Given the description of an element on the screen output the (x, y) to click on. 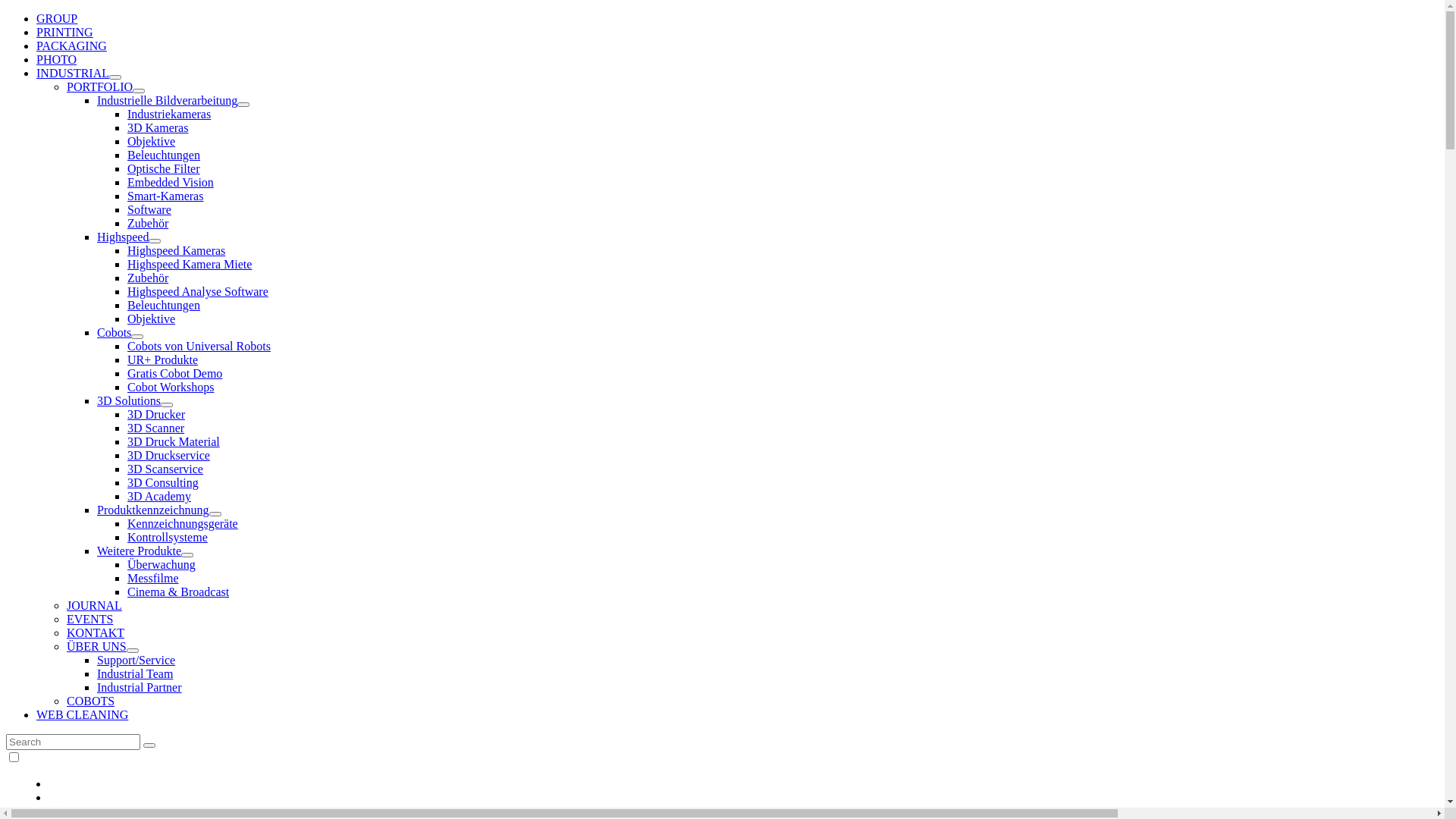
EVENTS Element type: text (89, 618)
UR+ Produkte Element type: text (162, 359)
Produktkennzeichnung Element type: text (153, 509)
Gratis Cobot Demo Element type: text (174, 373)
PORTFOLIO Element type: text (99, 86)
JOURNAL Element type: text (94, 605)
3D Kameras Element type: text (157, 127)
Industrielle Bildverarbeitung Element type: text (167, 100)
Industrial Team Element type: text (134, 673)
3D Druck Material Element type: text (173, 441)
Objektive Element type: text (151, 140)
FR Element type: text (55, 783)
Weitere Produkte Element type: text (139, 550)
Highspeed Element type: text (122, 236)
Cinema & Broadcast Element type: text (178, 591)
3D Academy Element type: text (159, 495)
WEB CLEANING Element type: text (82, 714)
GROUP Element type: text (56, 18)
Beleuchtungen Element type: text (163, 154)
Beleuchtungen Element type: text (163, 304)
Industrial Partner Element type: text (139, 686)
3D Druckservice Element type: text (168, 454)
Highspeed Kamera Miete Element type: text (189, 263)
Support/Service Element type: text (136, 659)
Objektive Element type: text (151, 318)
Cobot Workshops Element type: text (170, 386)
PACKAGING Element type: text (71, 45)
Smart-Kameras Element type: text (165, 195)
Messfilme Element type: text (152, 577)
PRINTING Element type: text (64, 31)
3D Scanner Element type: text (155, 427)
INDUSTRIAL Element type: text (72, 72)
3D Solutions Element type: text (128, 400)
EN Element type: text (56, 796)
Cobots Element type: text (114, 332)
3D Scanservice Element type: text (165, 468)
Industriekameras Element type: text (168, 113)
3D Drucker Element type: text (156, 413)
PHOTO Element type: text (56, 59)
Software Element type: text (149, 209)
KONTAKT Element type: text (95, 632)
Highspeed Analyse Software Element type: text (197, 291)
Optische Filter Element type: text (163, 168)
Embedded Vision Element type: text (170, 181)
Highspeed Kameras Element type: text (176, 250)
3D Consulting Element type: text (162, 482)
COBOTS Element type: text (90, 700)
Cobots von Universal Robots Element type: text (198, 345)
Kontrollsysteme Element type: text (167, 536)
